Given the description of an element on the screen output the (x, y) to click on. 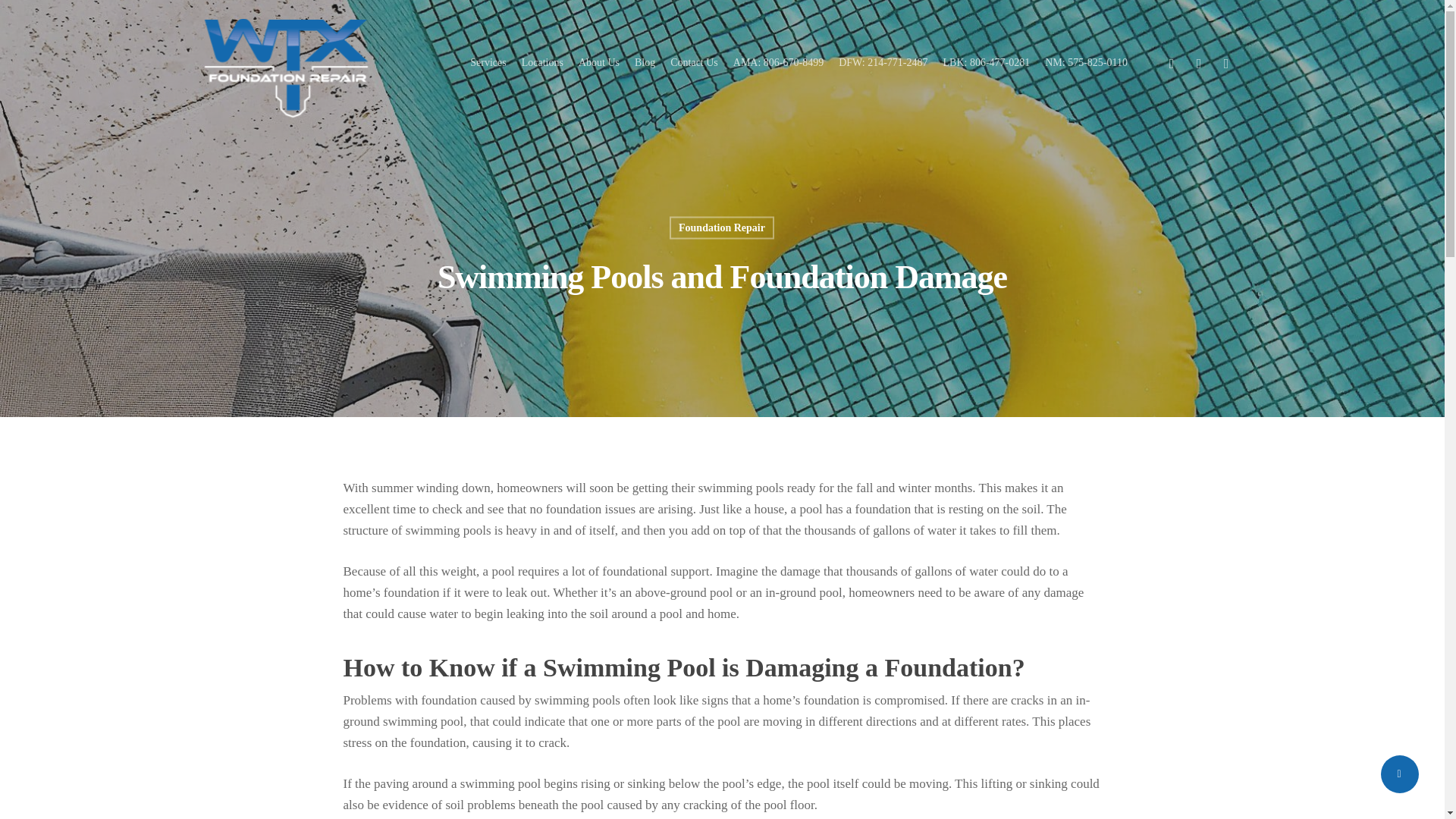
instagram (1226, 62)
AMA: 806-670-8499 (778, 61)
Foundation Repair (721, 228)
Blog (644, 61)
Services (487, 61)
DFW: 214-771-2487 (882, 61)
Locations (542, 61)
Contact Us (693, 61)
LBK: 806-477-0281 (986, 61)
twitter (1171, 62)
